Given the description of an element on the screen output the (x, y) to click on. 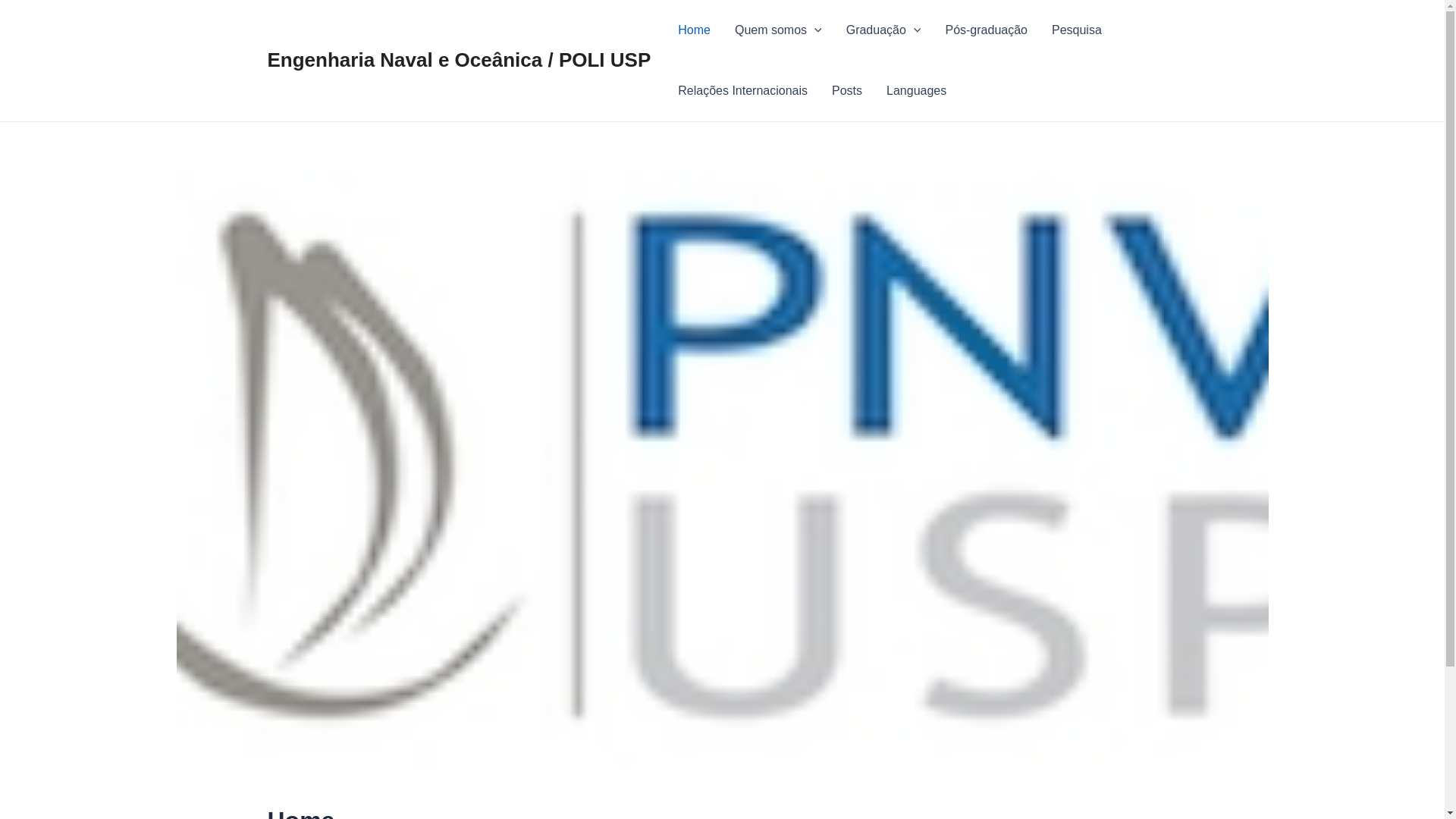
Quem somos Element type: text (778, 30)
Home Element type: text (693, 30)
Languages Element type: text (916, 90)
Pesquisa Element type: text (1076, 30)
Posts Element type: text (846, 90)
